Given the description of an element on the screen output the (x, y) to click on. 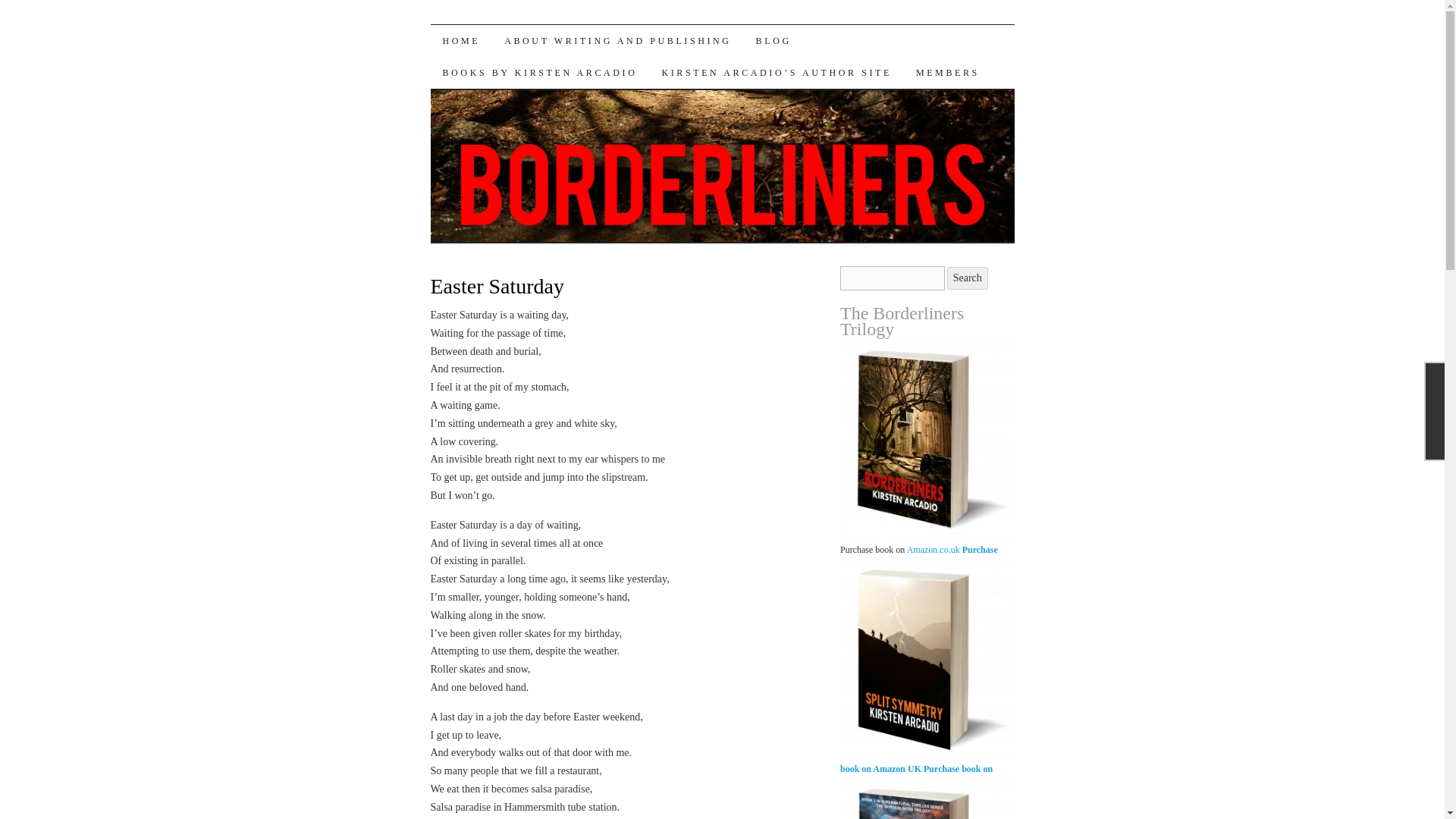
BLOG (773, 40)
Search (967, 277)
BOOKS BY KIRSTEN ARCADIO (539, 72)
ABOUT WRITING AND PUBLISHING (617, 40)
MEMBERS (947, 72)
Amazon.co.uk (933, 549)
Kirsten Arcadio (534, 50)
Kirsten Arcadio (534, 50)
HOME (461, 40)
Search (967, 277)
